Given the description of an element on the screen output the (x, y) to click on. 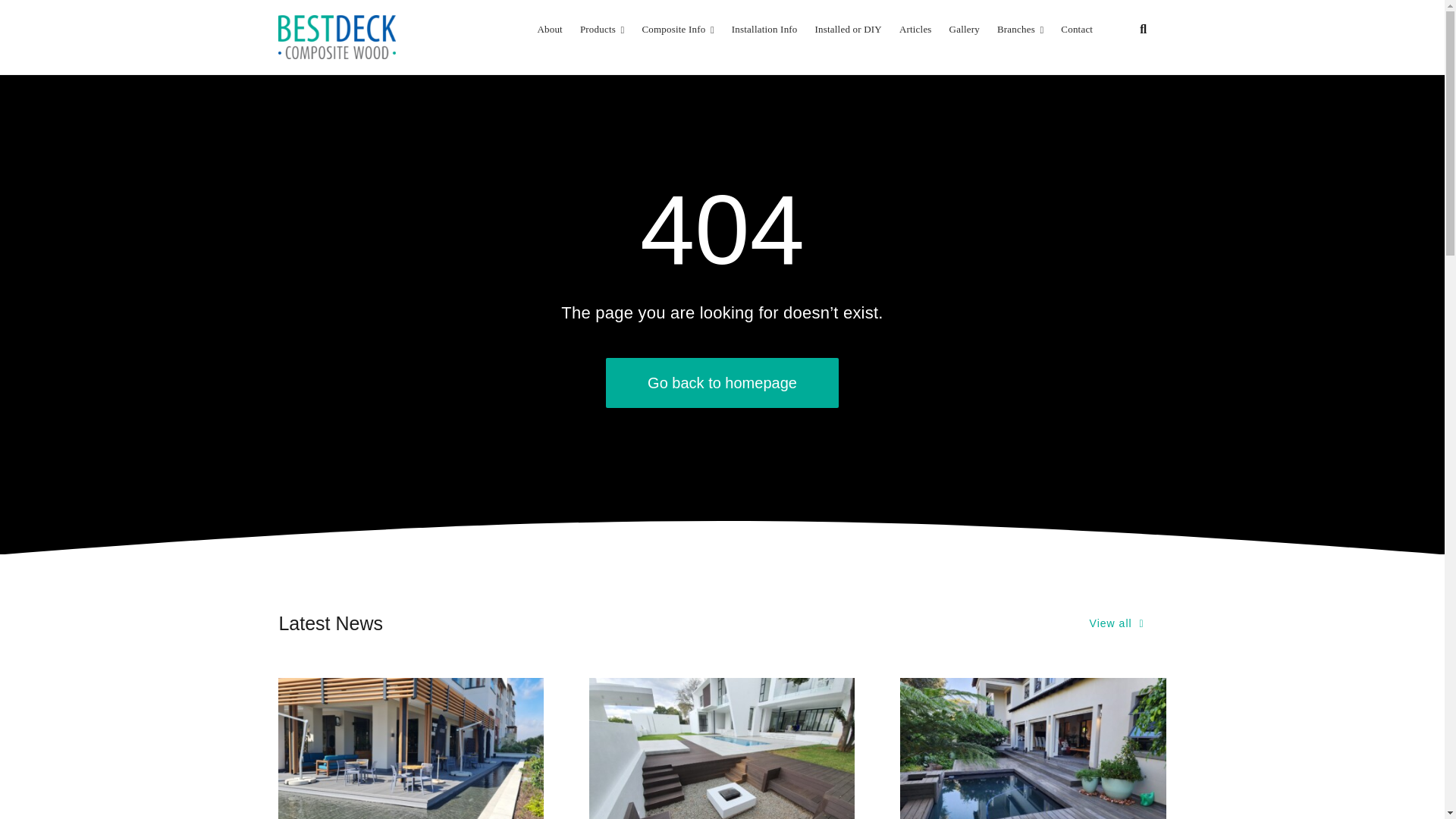
High-Impact Upgrades: Revitalise Your Business (410, 748)
Products (601, 29)
Installation Info (764, 29)
Composite Info (677, 29)
Winter trends: a fusion of tradition and contemporary chic (721, 748)
Gallery (964, 29)
Installed or DIY (848, 29)
Articles (915, 29)
Branches (1020, 29)
Contact (1077, 29)
Transforming Spaces with Innovative Outdoor Solutions (1032, 748)
Go back to homepage (721, 382)
View all (1116, 623)
About (549, 29)
